Given the description of an element on the screen output the (x, y) to click on. 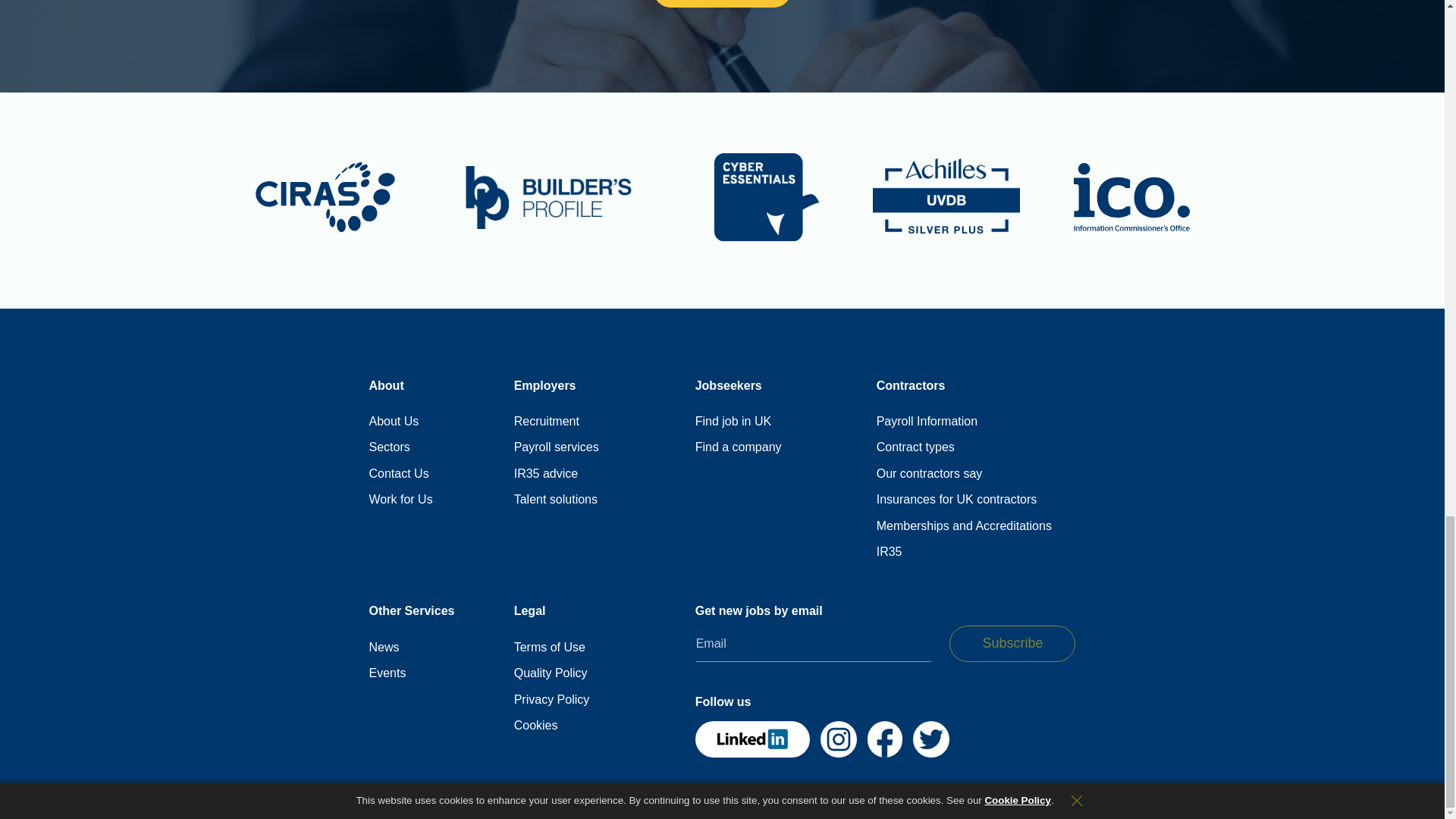
Get in touch (722, 3)
Subscribe (1012, 643)
Privacy Policy (551, 699)
Sectors (388, 447)
Terms of Use (549, 647)
IR35 (889, 551)
Contract types (915, 447)
Find job in UK (733, 421)
Memberships and Accreditations (963, 525)
Insurances for UK contractors (956, 499)
Quality Policy (550, 673)
Work for Us (400, 499)
Find a company (738, 447)
Payroll Information (926, 421)
About Us (393, 421)
